Given the description of an element on the screen output the (x, y) to click on. 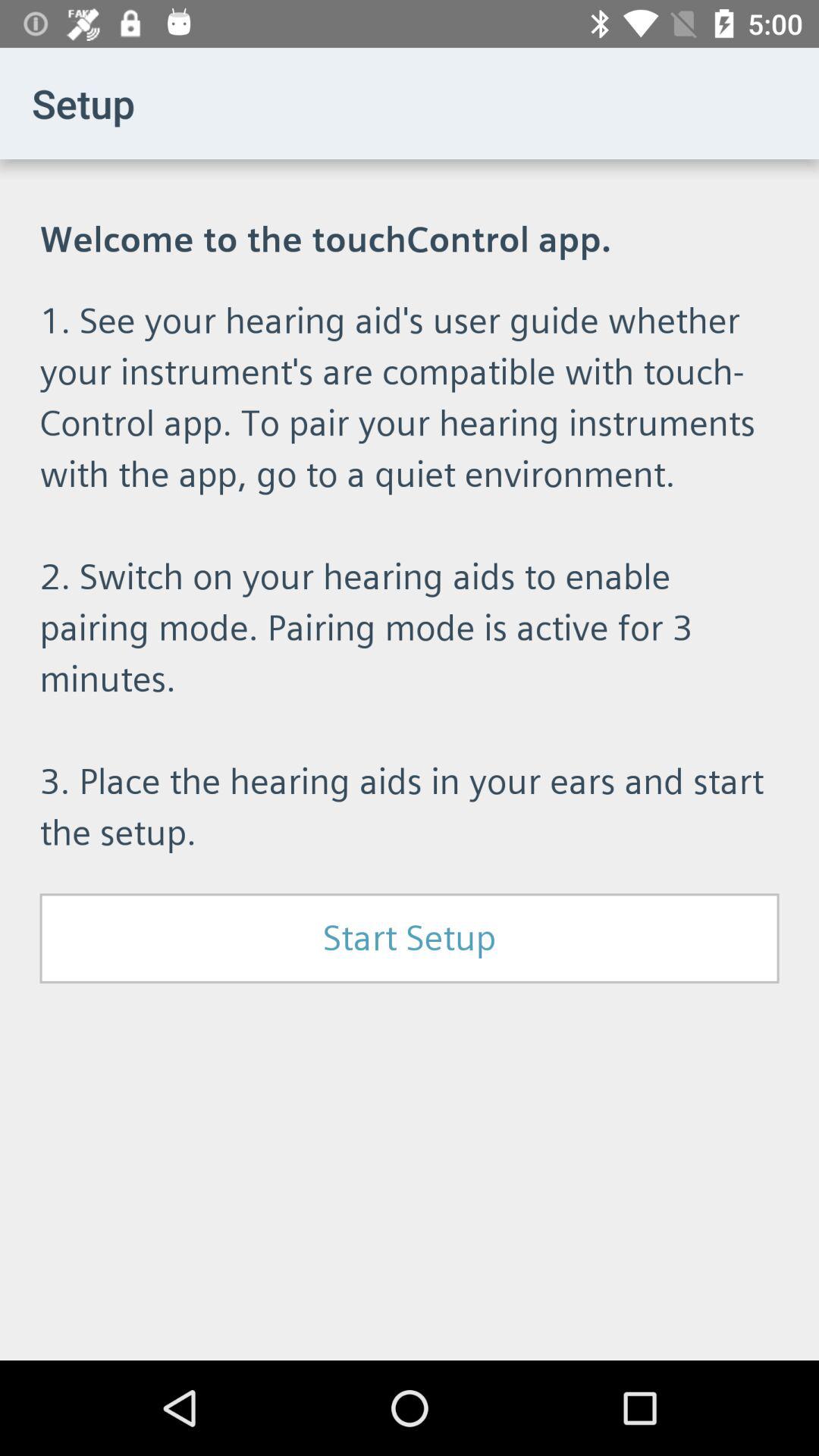
flip to start setup (409, 938)
